Given the description of an element on the screen output the (x, y) to click on. 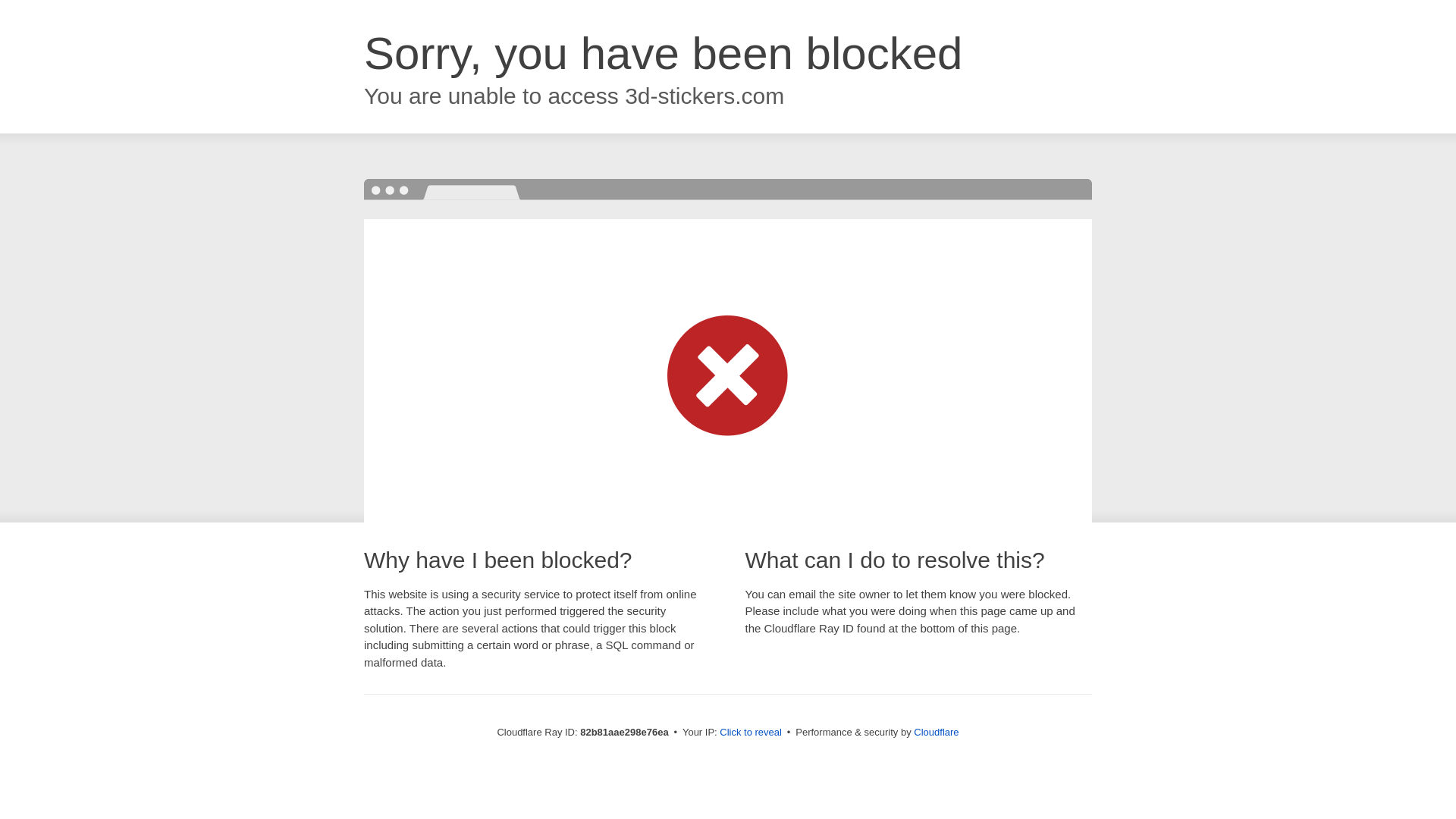
Click to reveal Element type: text (750, 732)
Cloudflare Element type: text (935, 731)
